Given the description of an element on the screen output the (x, y) to click on. 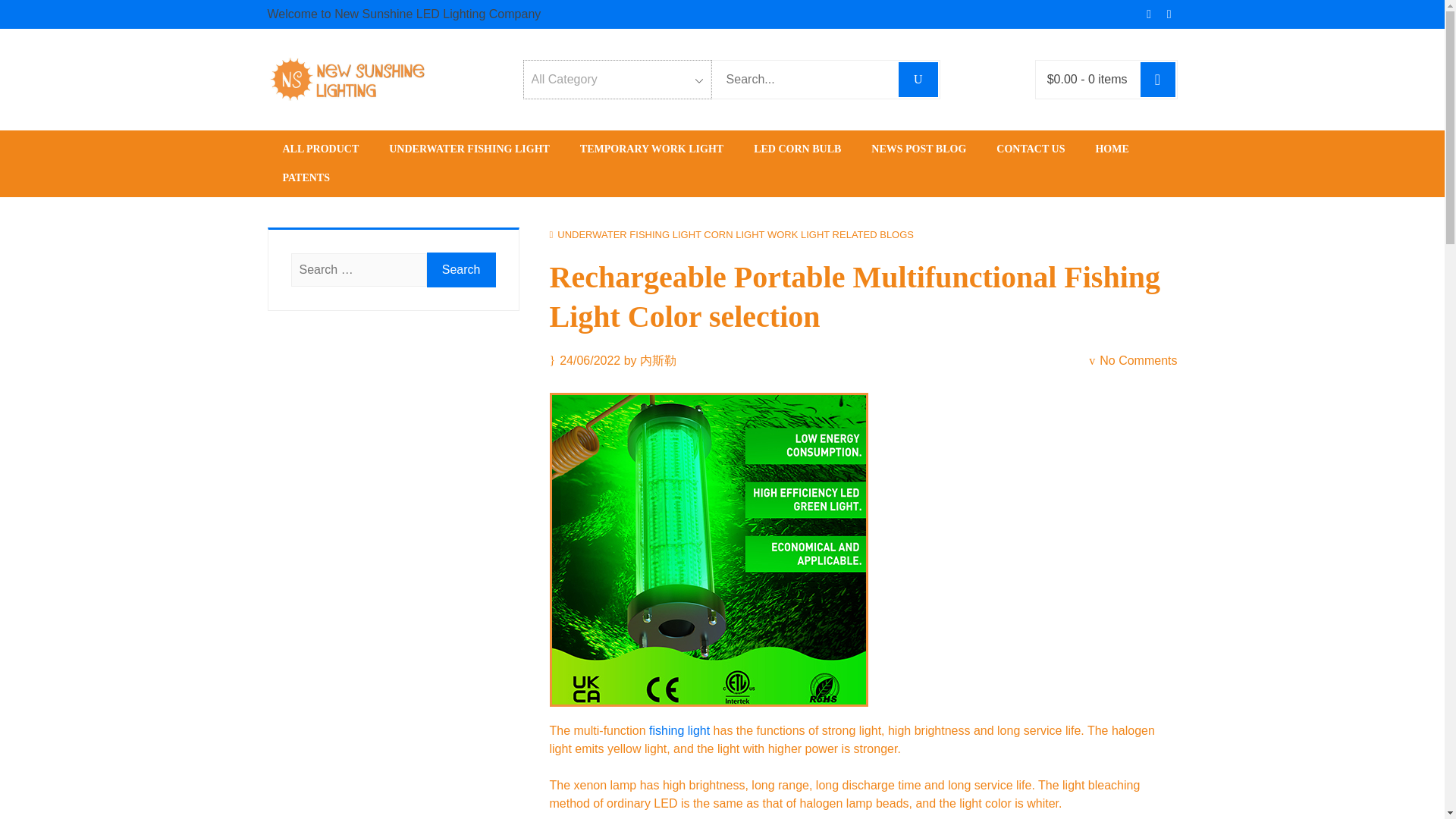
New Sunshine LED Lighting Inc (480, 129)
fishing light (679, 730)
Search (461, 269)
CONTACT US (1030, 149)
UNDERWATER FISHING LIGHT CORN LIGHT WORK LIGHT RELATED BLOGS (735, 234)
NEWS POST BLOG (918, 149)
LED CORN BULB (797, 149)
HOME (1111, 149)
UNDERWATER FISHING LIGHT (469, 149)
Search for: (803, 79)
View your shopping cart (1086, 78)
Search (461, 269)
TEMPORARY WORK LIGHT (651, 149)
Search (461, 269)
ALL PRODUCT (320, 149)
